Given the description of an element on the screen output the (x, y) to click on. 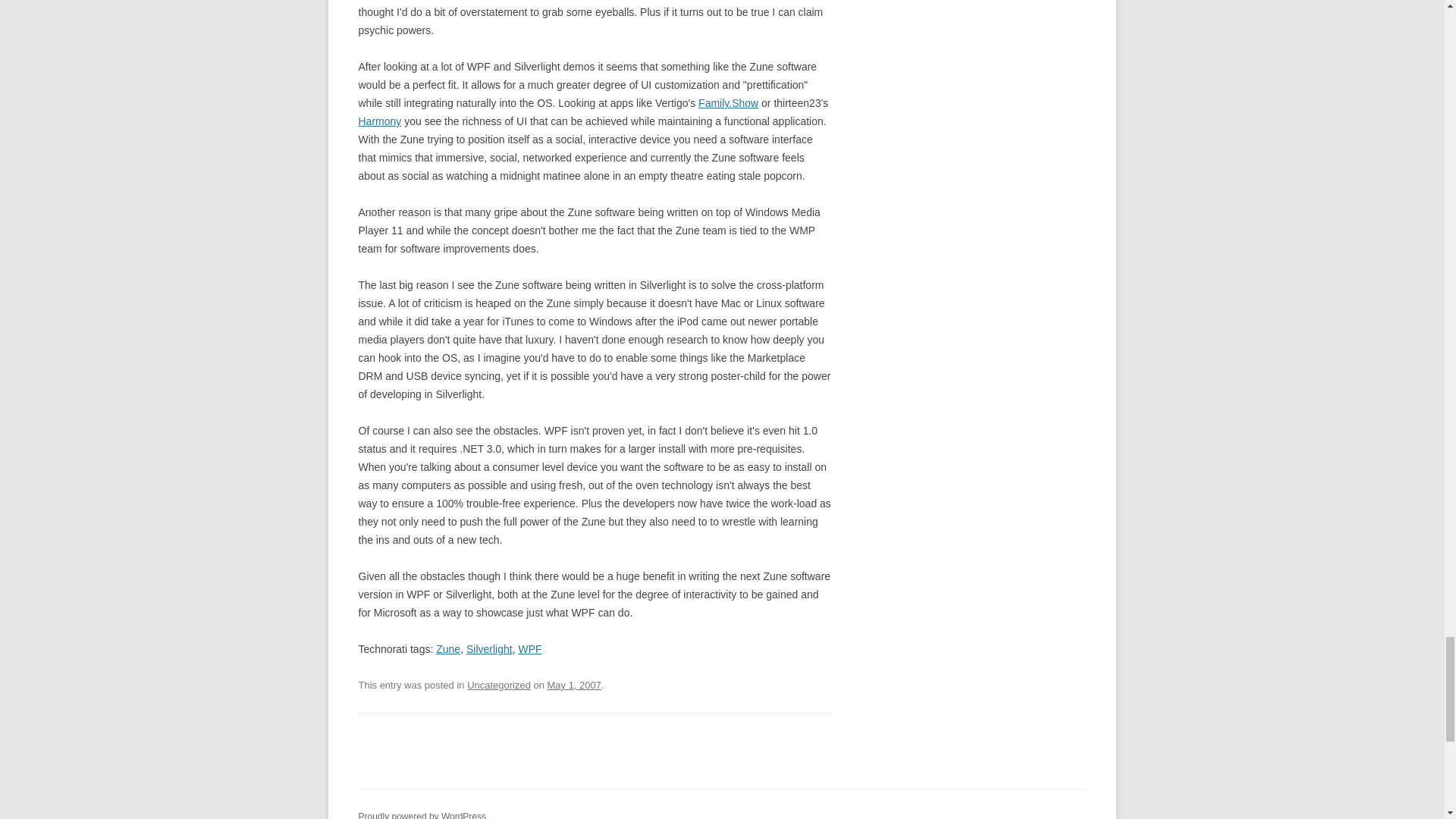
May 1, 2007 (574, 685)
View all posts in Uncategorized (499, 685)
Harmony (379, 121)
Zune (447, 648)
Silverlight (488, 648)
Uncategorized (499, 685)
2:49 am (574, 685)
WPF (529, 648)
Family.Show (728, 102)
